Given the description of an element on the screen output the (x, y) to click on. 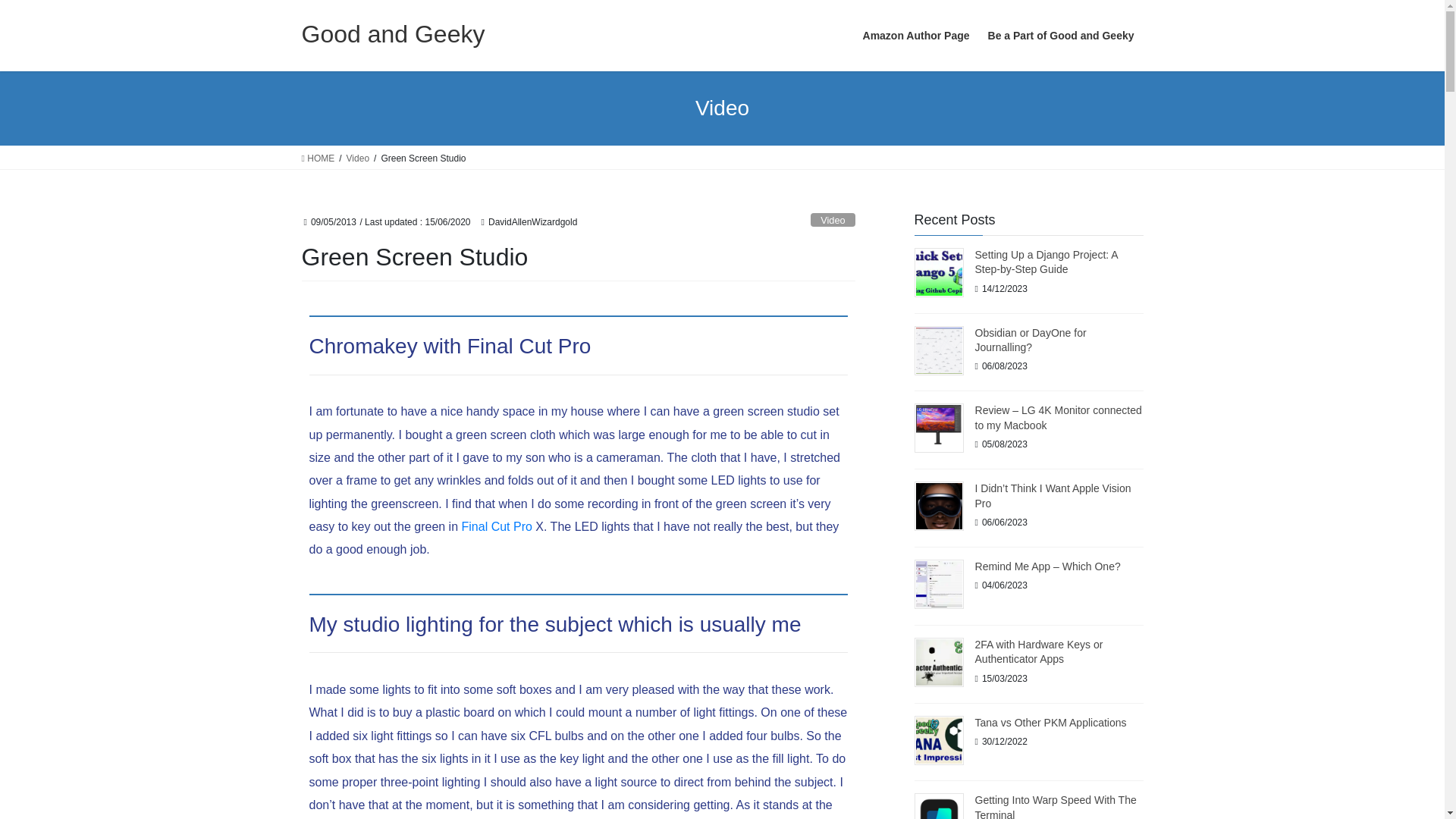
Be a Part of Good and Geeky (1060, 36)
Good and Geeky (392, 33)
Getting Into Warp Speed With The Terminal (1056, 806)
Setting Up a Django Project: A Step-by-Step Guide (1046, 262)
Final Cut Pro (496, 526)
2FA with Hardware Keys or Authenticator Apps (1039, 651)
Video (357, 157)
HOME (317, 157)
Amazon Author Page (915, 36)
Obsidian or DayOne for Journalling? (1030, 339)
Video (832, 219)
Tana vs Other PKM Applications (1050, 722)
